Given the description of an element on the screen output the (x, y) to click on. 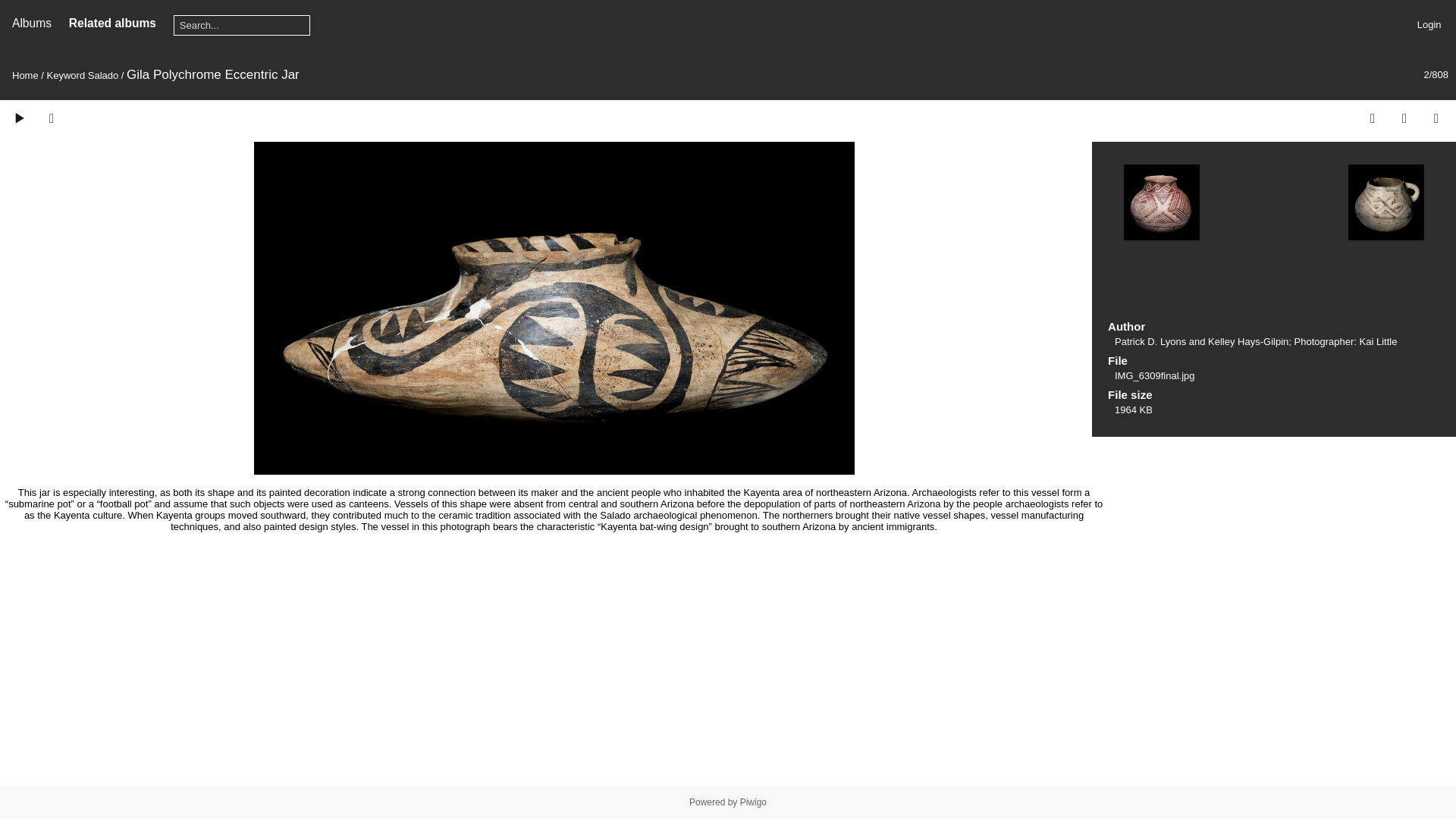
Login (1428, 24)
Albums (30, 22)
